Given the description of an element on the screen output the (x, y) to click on. 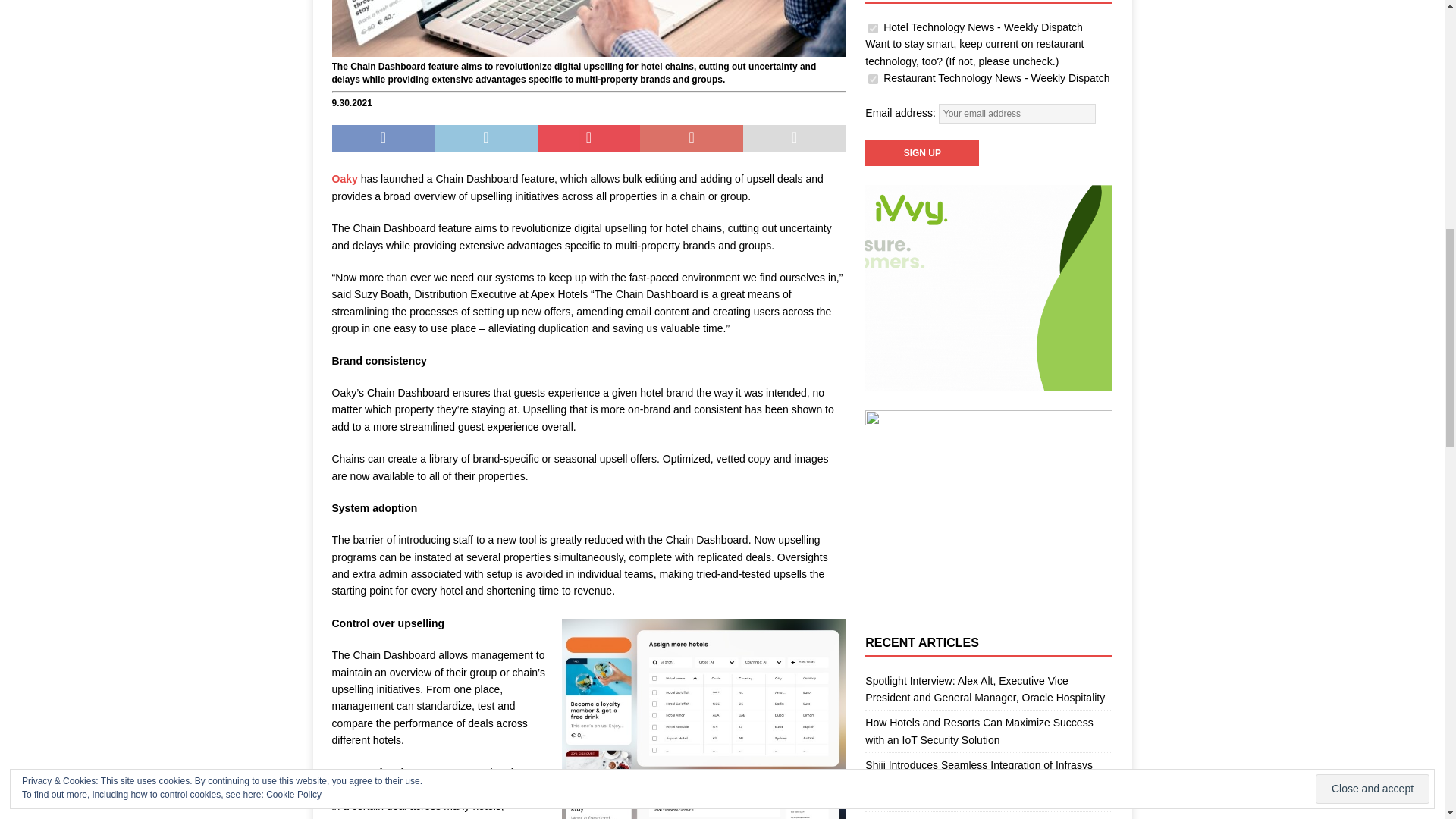
18125c9609 (872, 79)
662a89223e (872, 28)
Oaky (344, 178)
Sign up (921, 153)
